Given the description of an element on the screen output the (x, y) to click on. 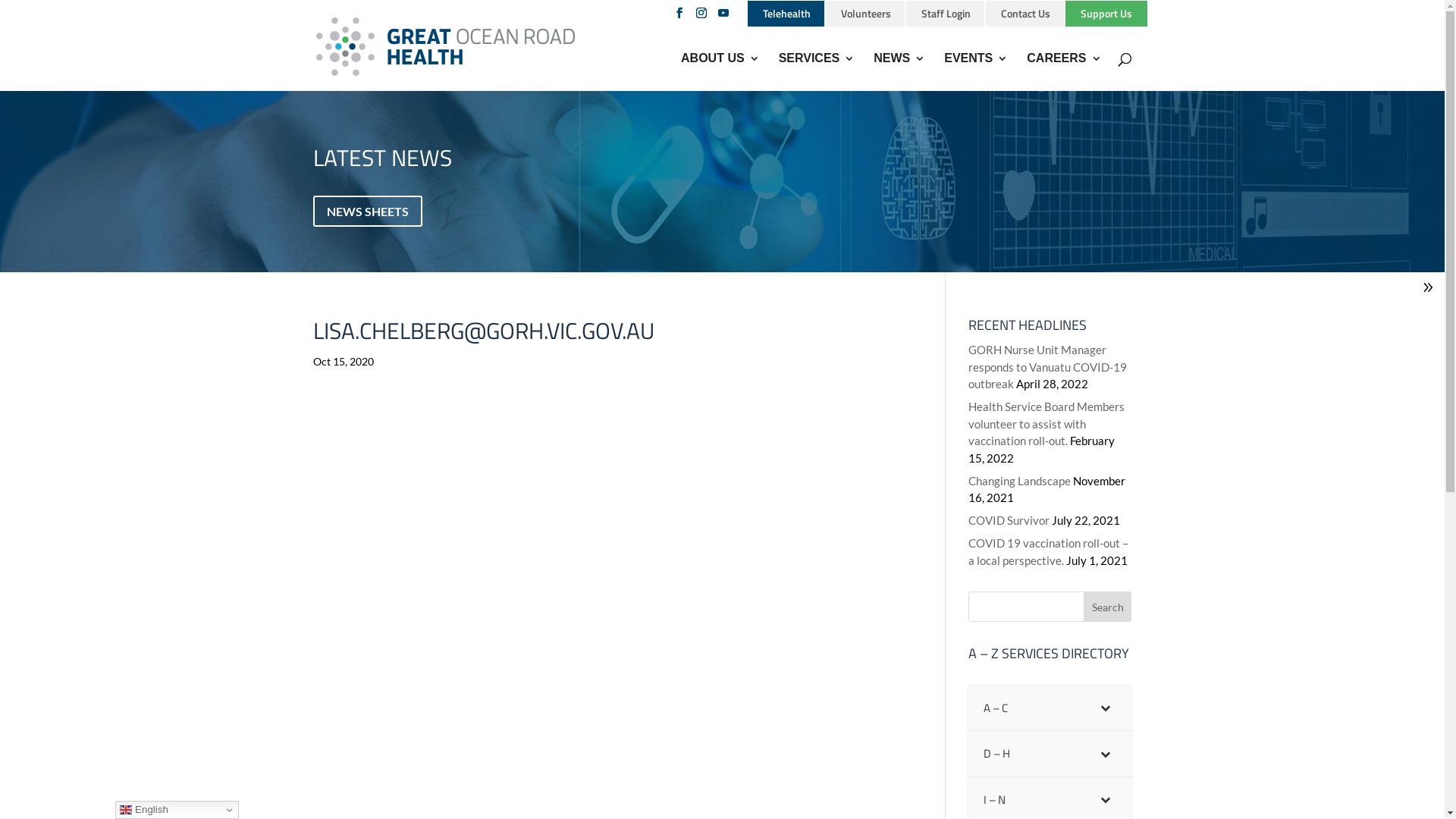
Changing Landscape Element type: text (1019, 480)
EVENTS Element type: text (975, 71)
Telehealth Element type: text (785, 12)
Search Element type: text (1107, 606)
NEWS Element type: text (899, 71)
COVID Survivor Element type: text (1008, 520)
NEWS SHEETS Element type: text (366, 210)
Support Us Element type: text (1104, 12)
CAREERS Element type: text (1063, 71)
SERVICES Element type: text (816, 71)
Staff Login Element type: text (944, 12)
Volunteers Element type: text (864, 12)
ABOUT US Element type: text (719, 71)
Contact Us Element type: text (1024, 12)
Toggle Sidebar Element type: hover (1427, 289)
